Given the description of an element on the screen output the (x, y) to click on. 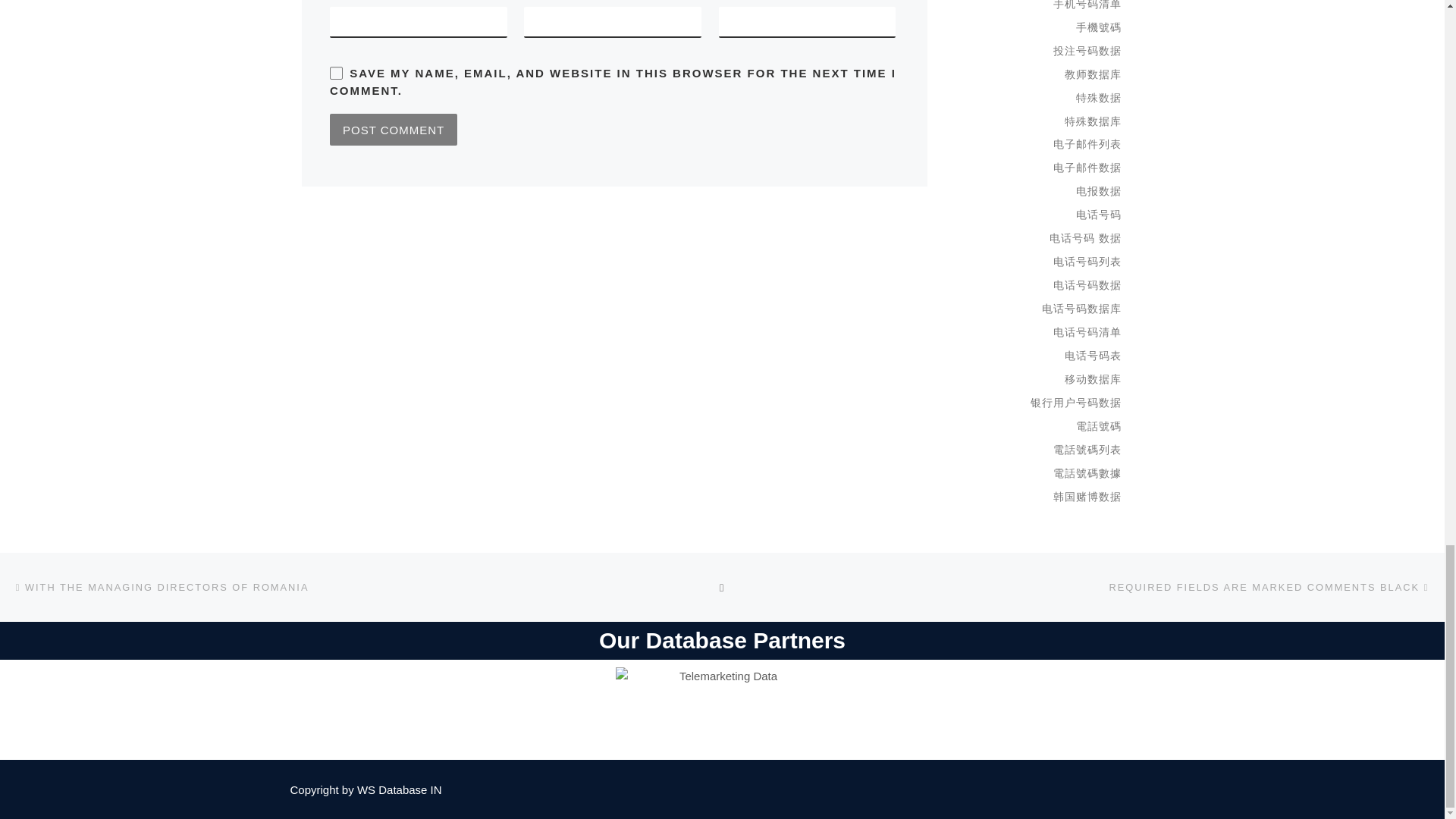
yes (336, 72)
Post Comment (393, 129)
